Given the description of an element on the screen output the (x, y) to click on. 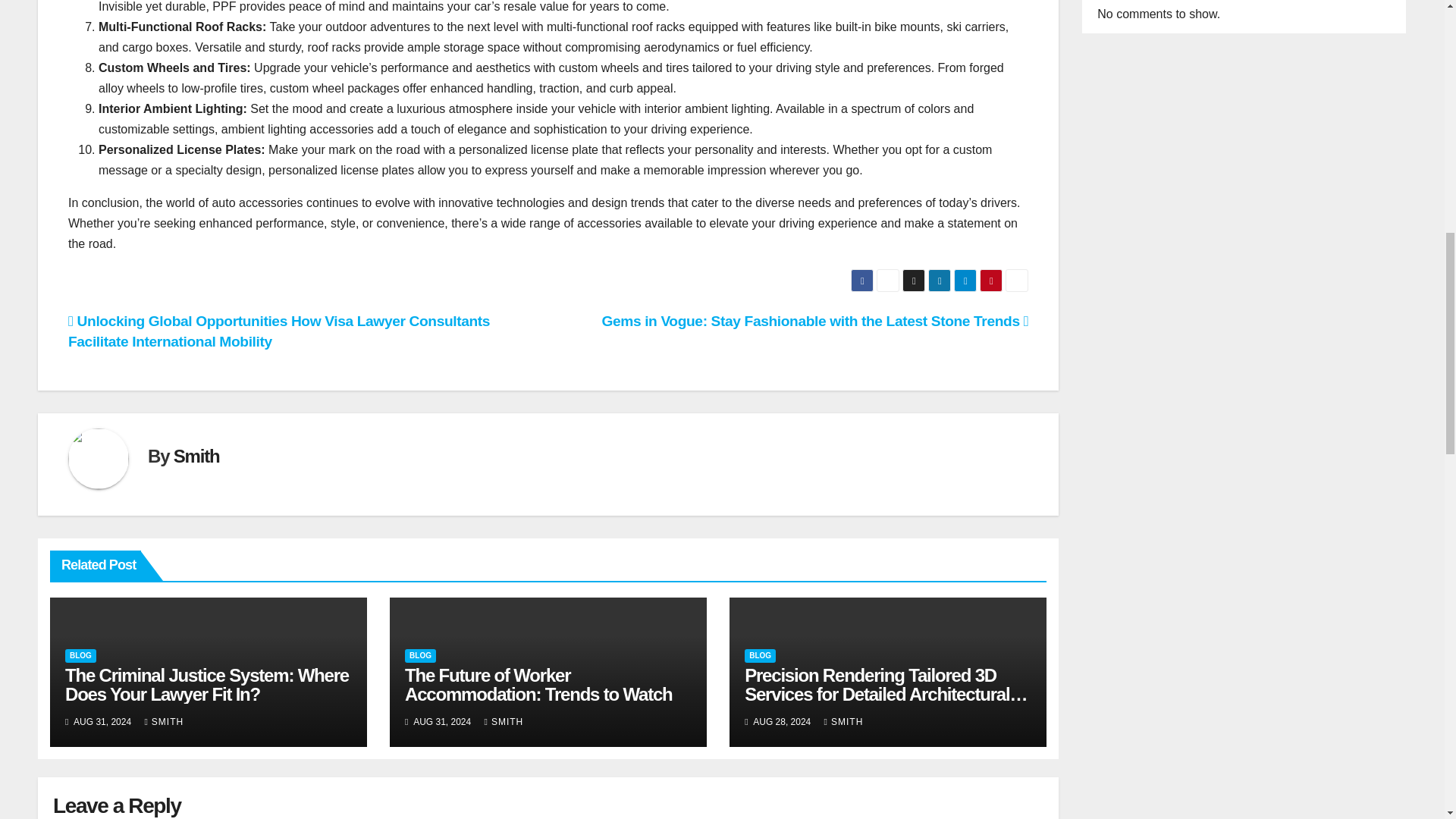
Smith (196, 455)
The Future of Worker Accommodation: Trends to Watch (537, 684)
SMITH (163, 721)
SMITH (504, 721)
SMITH (843, 721)
BLOG (419, 655)
BLOG (760, 655)
